Given the description of an element on the screen output the (x, y) to click on. 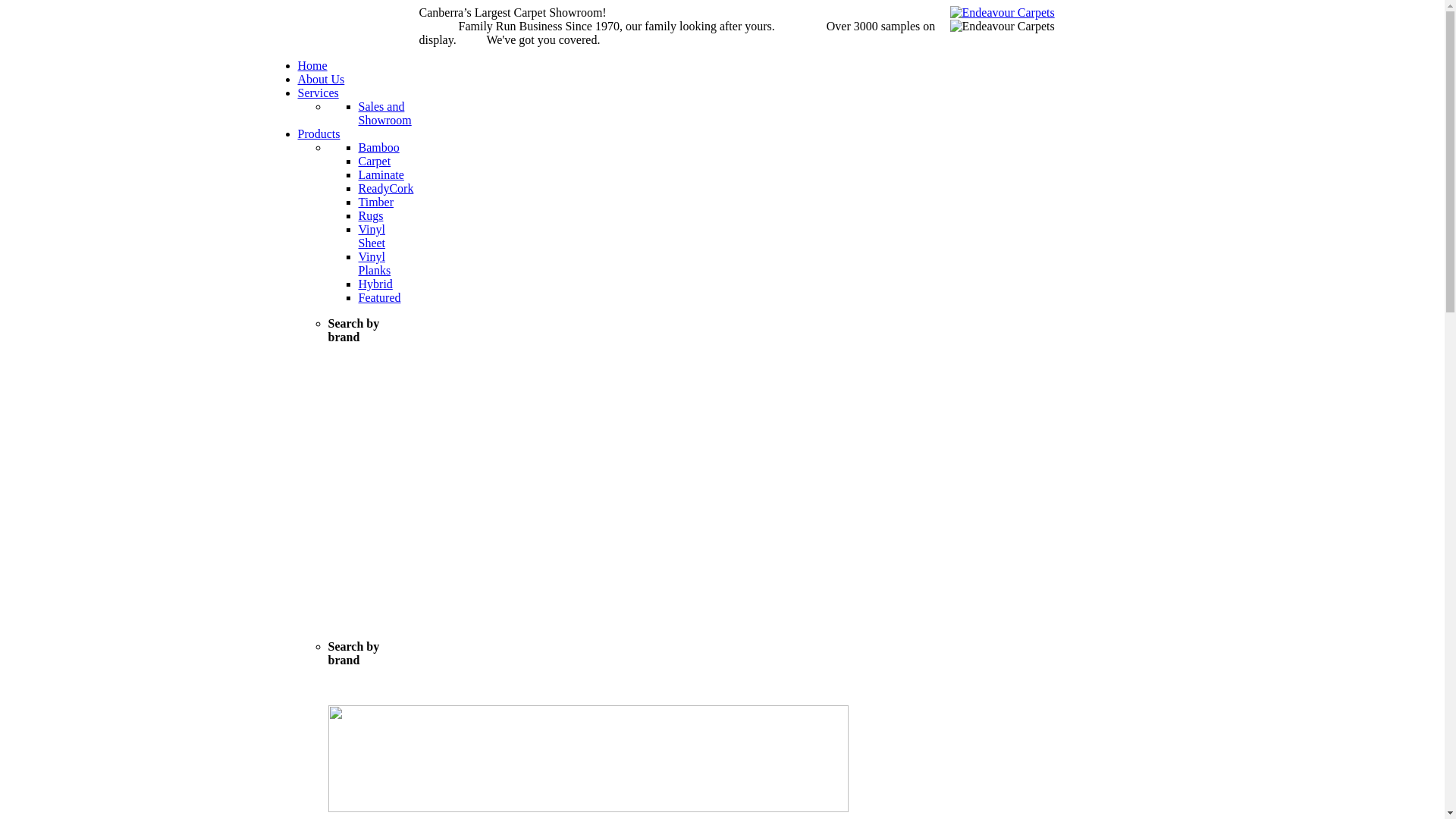
Products Element type: text (318, 133)
Services Element type: text (317, 92)
Featured Element type: text (378, 297)
About Us Element type: text (320, 78)
Sales and Showroom Element type: text (384, 113)
Vinyl Sheet Element type: text (371, 235)
ReadyCork Element type: text (385, 188)
Carpet Element type: text (373, 160)
Rugs Element type: text (369, 215)
Hybrid Element type: text (374, 283)
Laminate Element type: text (380, 174)
Home Element type: text (311, 65)
Bamboo Element type: text (377, 147)
Vinyl Planks Element type: text (373, 263)
Timber Element type: text (375, 201)
